Given the description of an element on the screen output the (x, y) to click on. 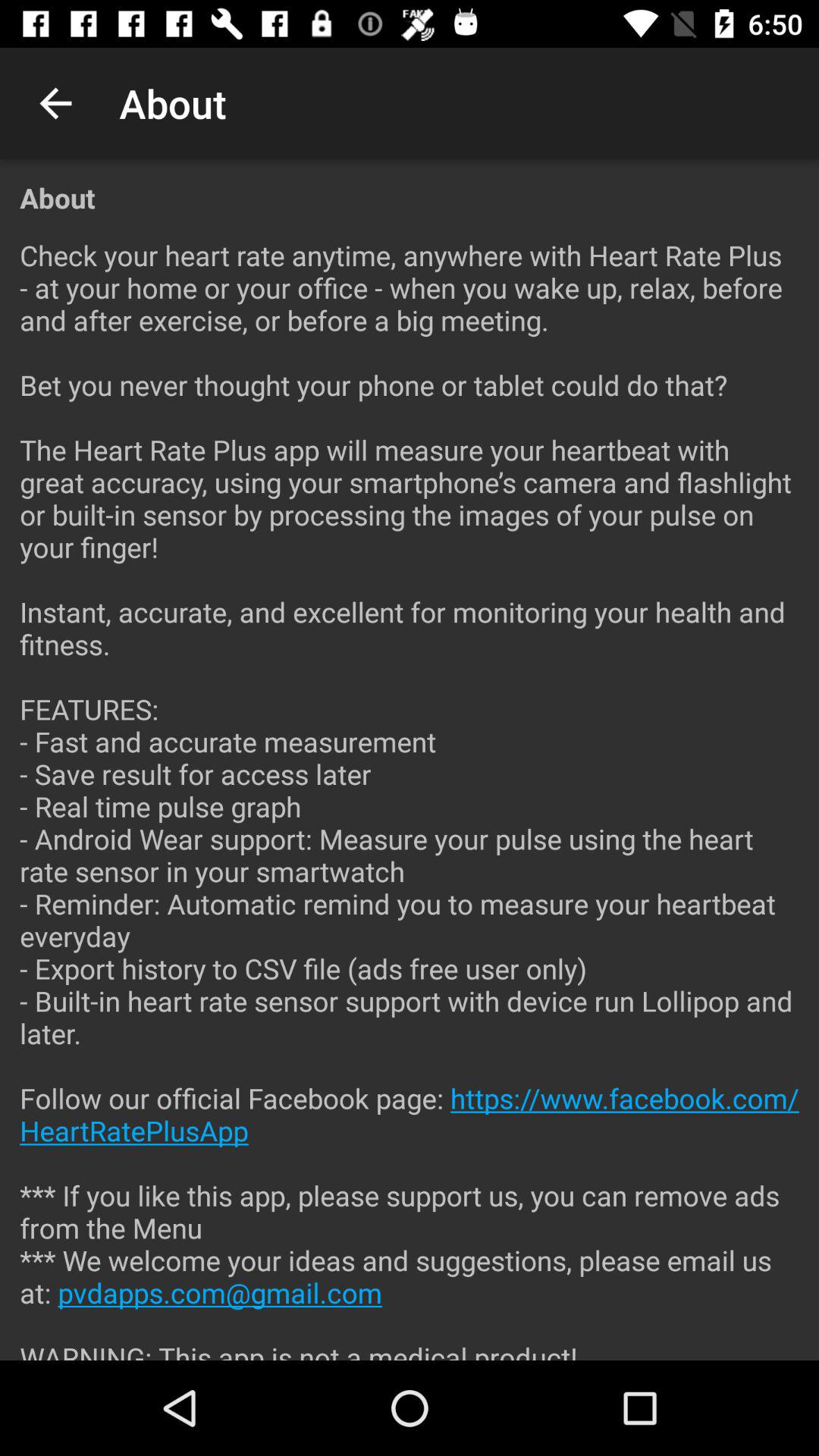
click item below the about item (409, 788)
